Given the description of an element on the screen output the (x, y) to click on. 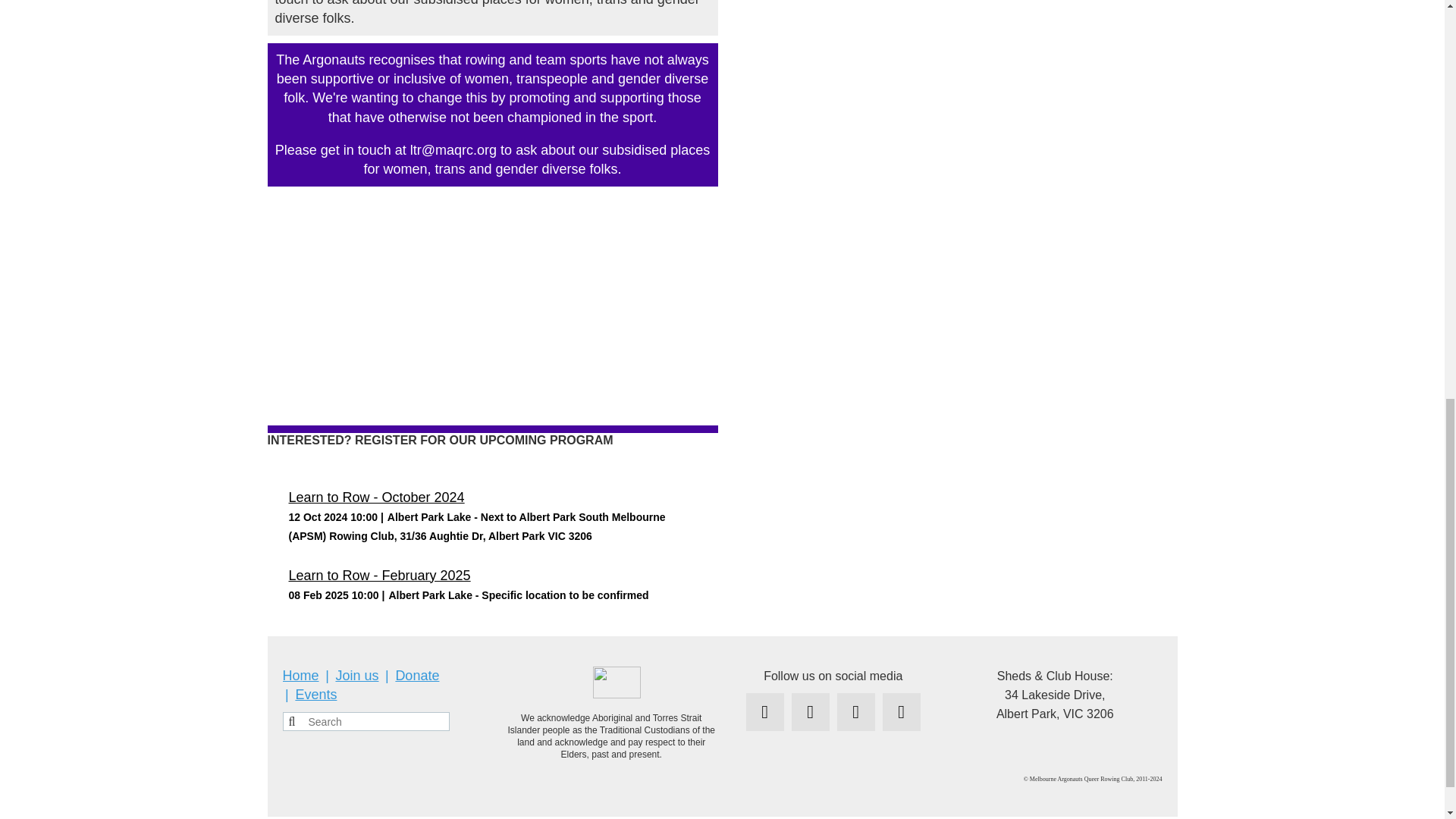
Join us (356, 675)
Learn to Row - October 2024 (376, 497)
Learn to Row - February 2025 (379, 575)
Home (300, 675)
Events (315, 694)
Donate (416, 675)
